Given the description of an element on the screen output the (x, y) to click on. 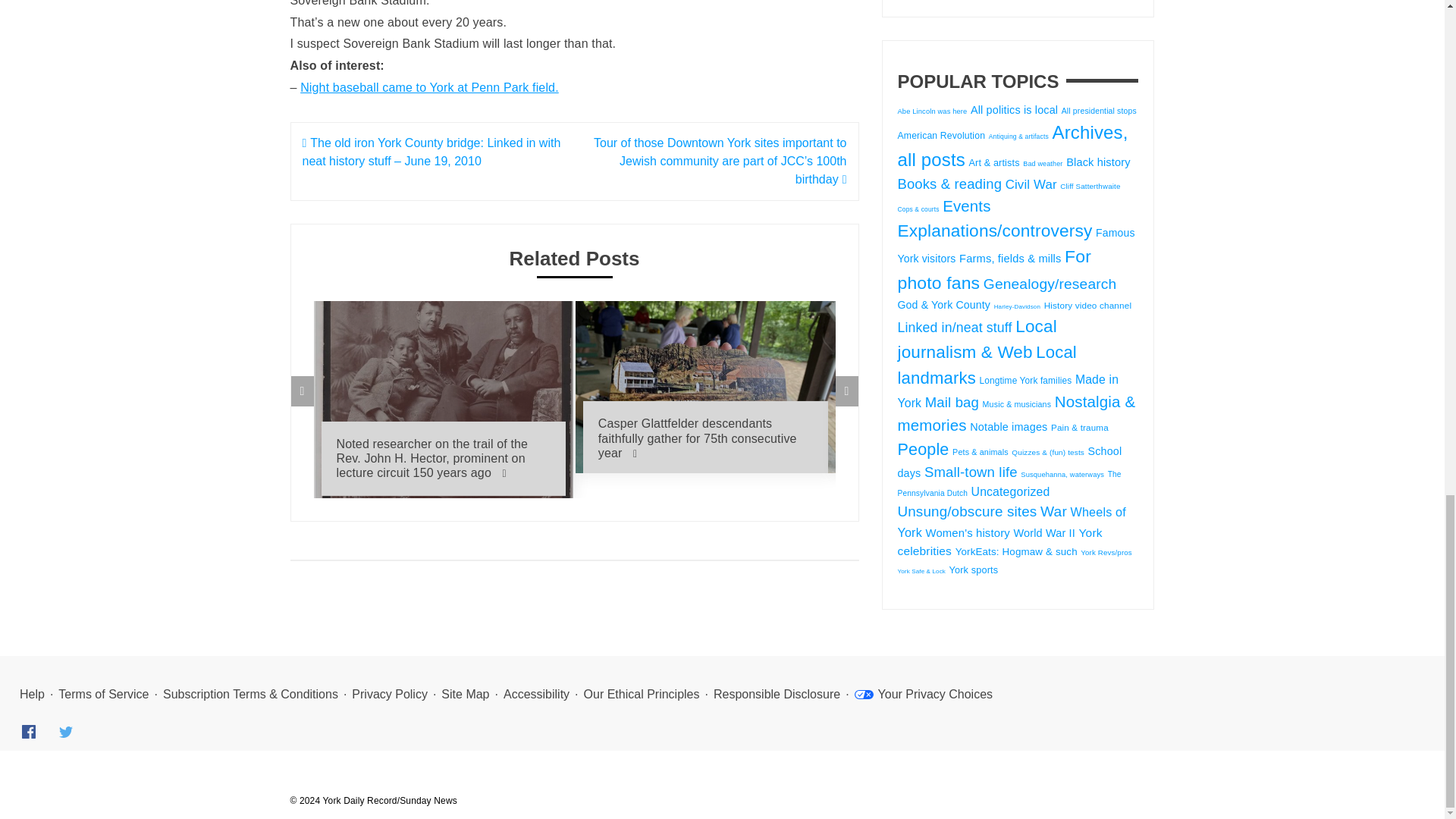
Night baseball came to York at Penn Park field. (429, 87)
